Given the description of an element on the screen output the (x, y) to click on. 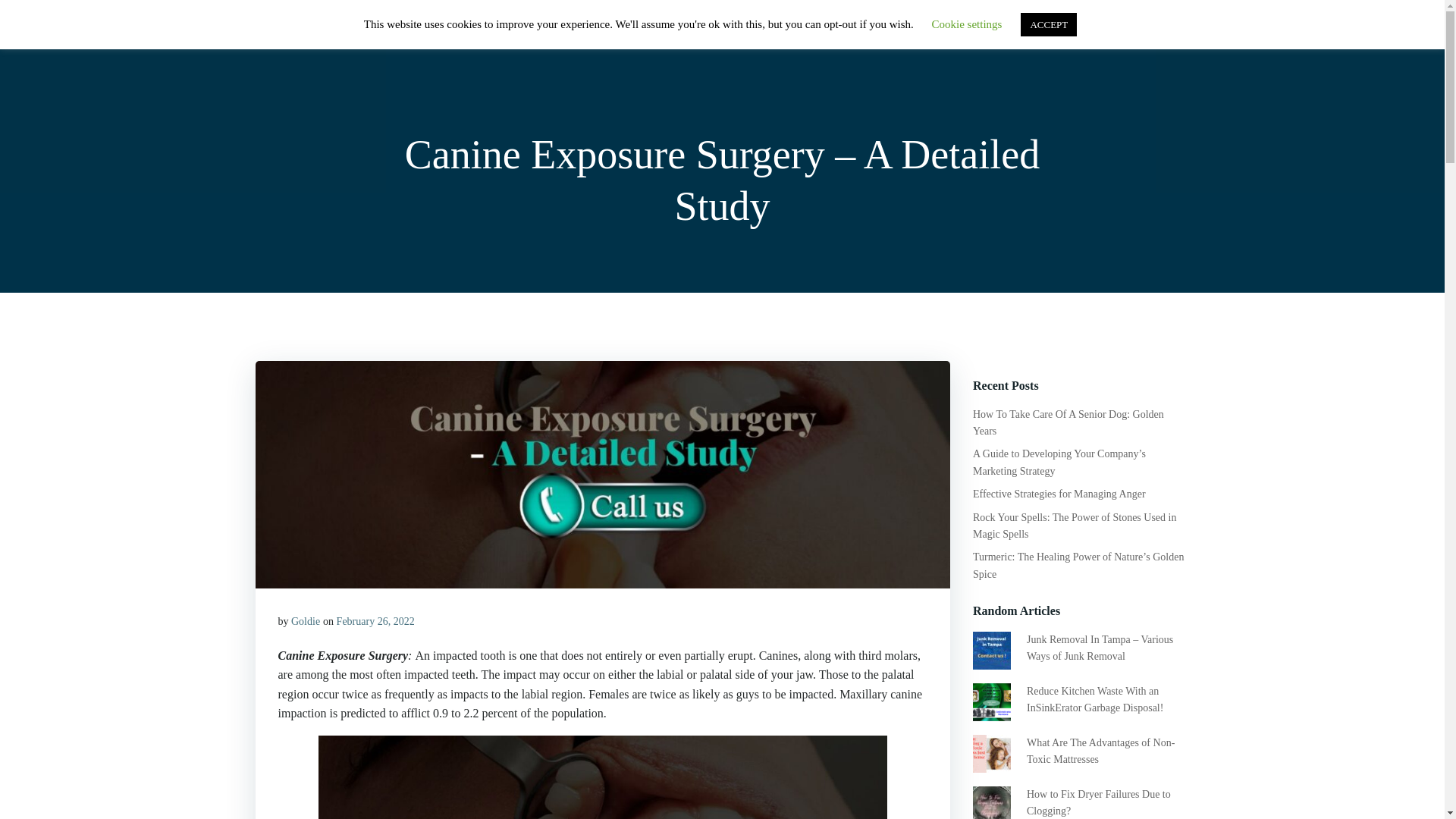
ARTICLES (1014, 33)
Effective Strategies for Managing Anger (1058, 493)
FyBix Pod (293, 33)
How to Fix Dryer Failures Due to Clogging? (1098, 802)
February 26, 2022 (375, 621)
Reduce Kitchen Waste With an InSinkErator Garbage Disposal! (1094, 699)
Colibri (862, 773)
HOME (879, 33)
What Are The Advantages of Non-Toxic Mattresses (1100, 750)
SHOP (942, 33)
Rock Your Spells: The Power of Stones Used in Magic Spells (1074, 525)
LOGIN (1088, 33)
Goldie (305, 621)
LEGAL (1155, 33)
Cookie settings (967, 24)
